Given the description of an element on the screen output the (x, y) to click on. 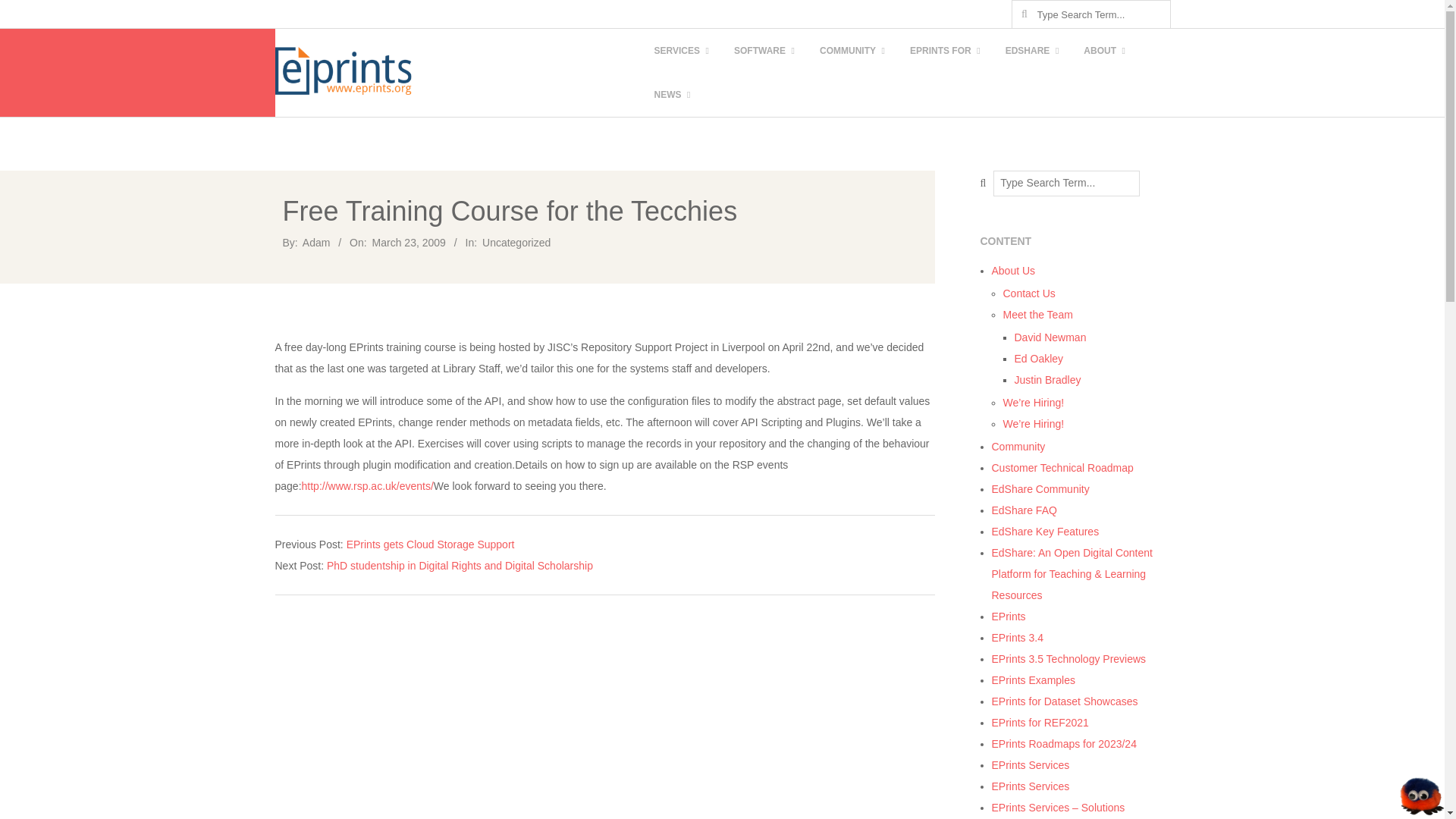
ABOUT (1102, 50)
EPrints for (943, 50)
SERVICES (678, 50)
COMMUNITY (850, 50)
NEWS (670, 94)
EDSHARE (1029, 50)
Monday, March 23, 2009, 11:08 am (408, 242)
SOFTWARE (761, 50)
Posts by Adam (316, 242)
EPRINTS FOR (943, 50)
